Given the description of an element on the screen output the (x, y) to click on. 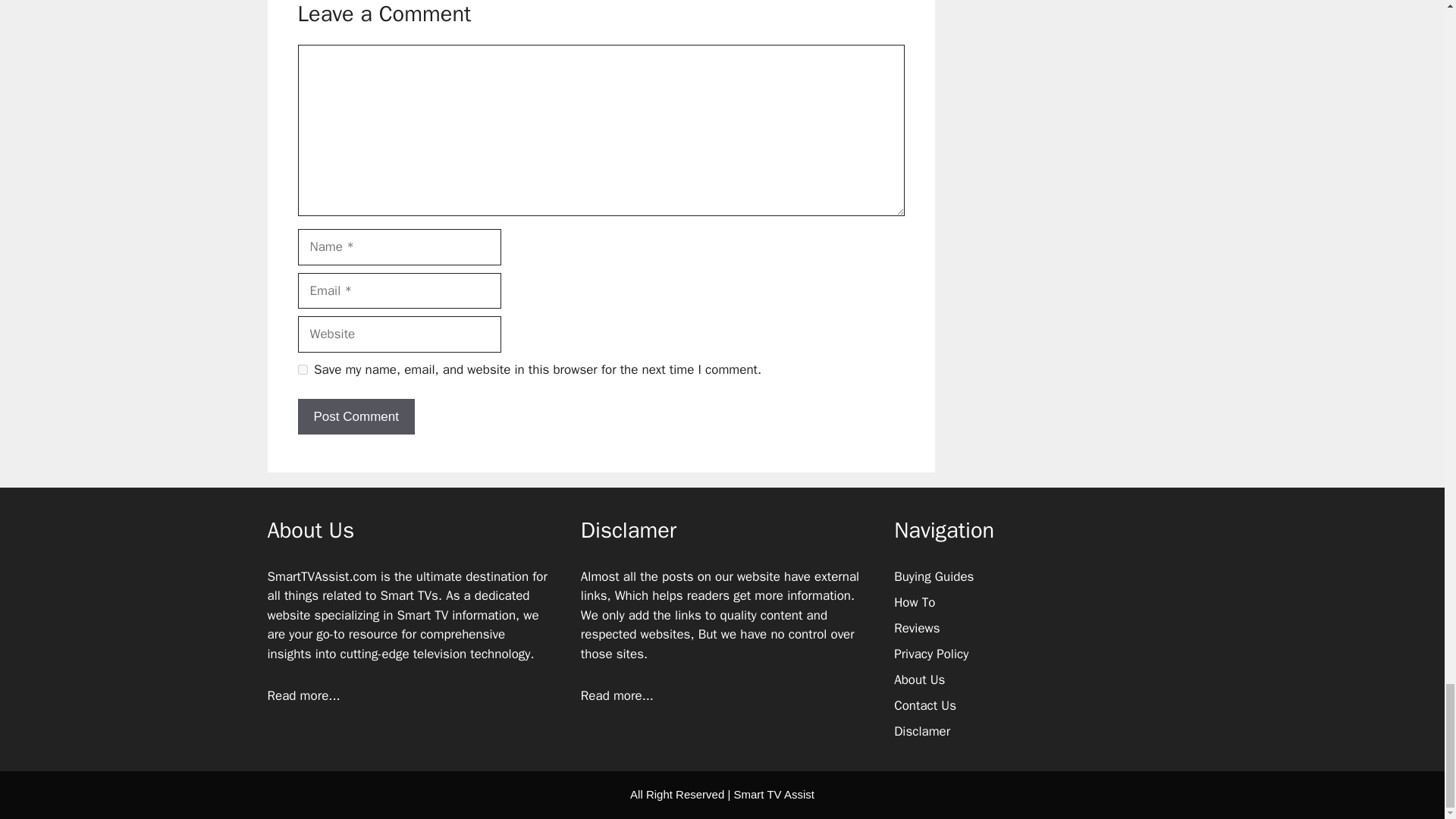
Post Comment (355, 416)
yes (302, 369)
Post Comment (355, 416)
